Given the description of an element on the screen output the (x, y) to click on. 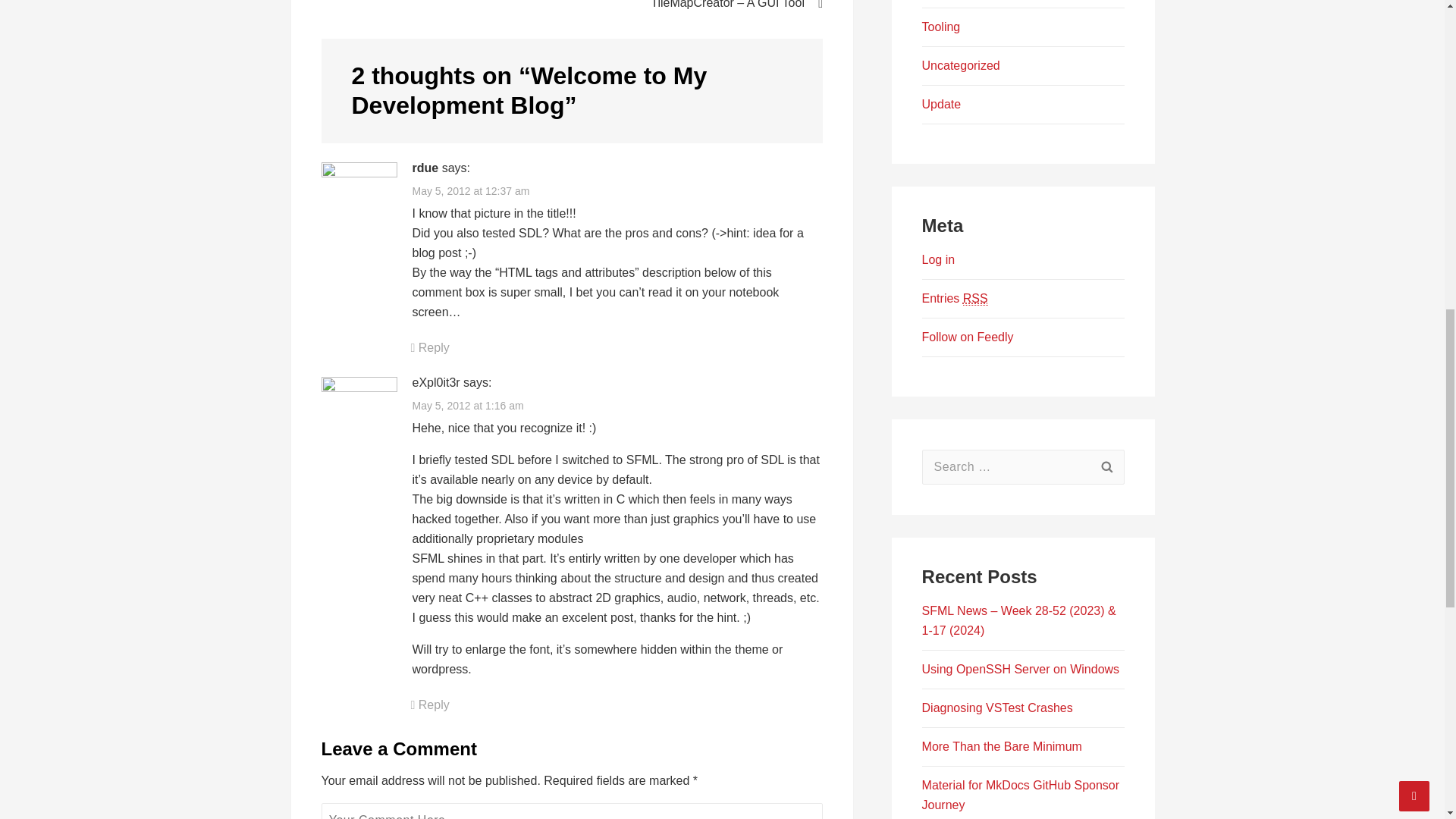
Search (1106, 466)
Really Simple Syndication (975, 298)
Reply (429, 704)
eXpl0it3r (436, 382)
May 5, 2012 at 1:16 am (468, 405)
May 5, 2012 at 12:37 am (470, 191)
Tooling (940, 26)
Search (1106, 466)
Reply (429, 347)
Uncategorized (960, 65)
Update (940, 103)
